Given the description of an element on the screen output the (x, y) to click on. 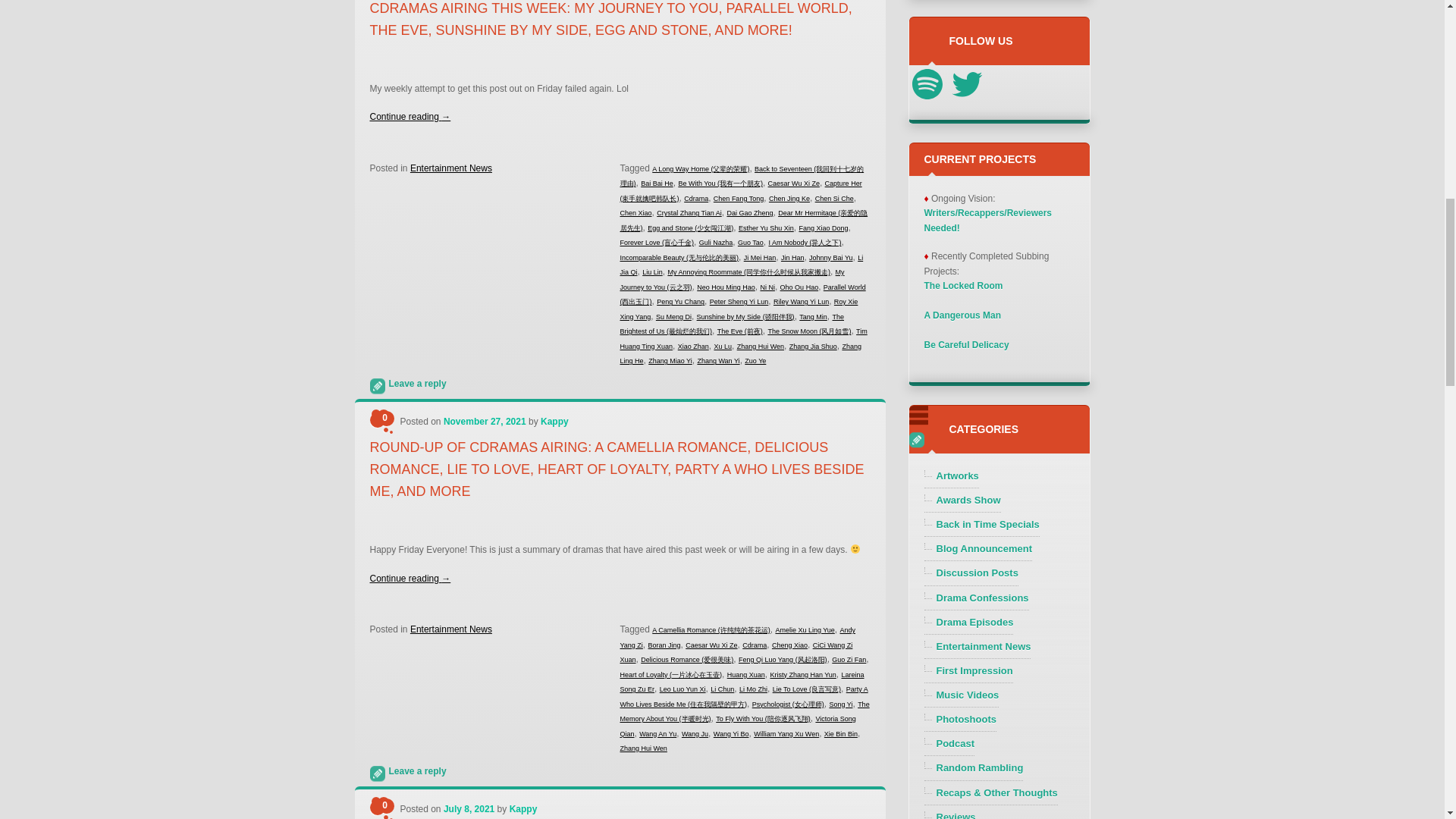
5:00 pm (469, 808)
View all posts by Kappy (523, 808)
View all posts by Kappy (554, 421)
2:59 am (484, 421)
